Given the description of an element on the screen output the (x, y) to click on. 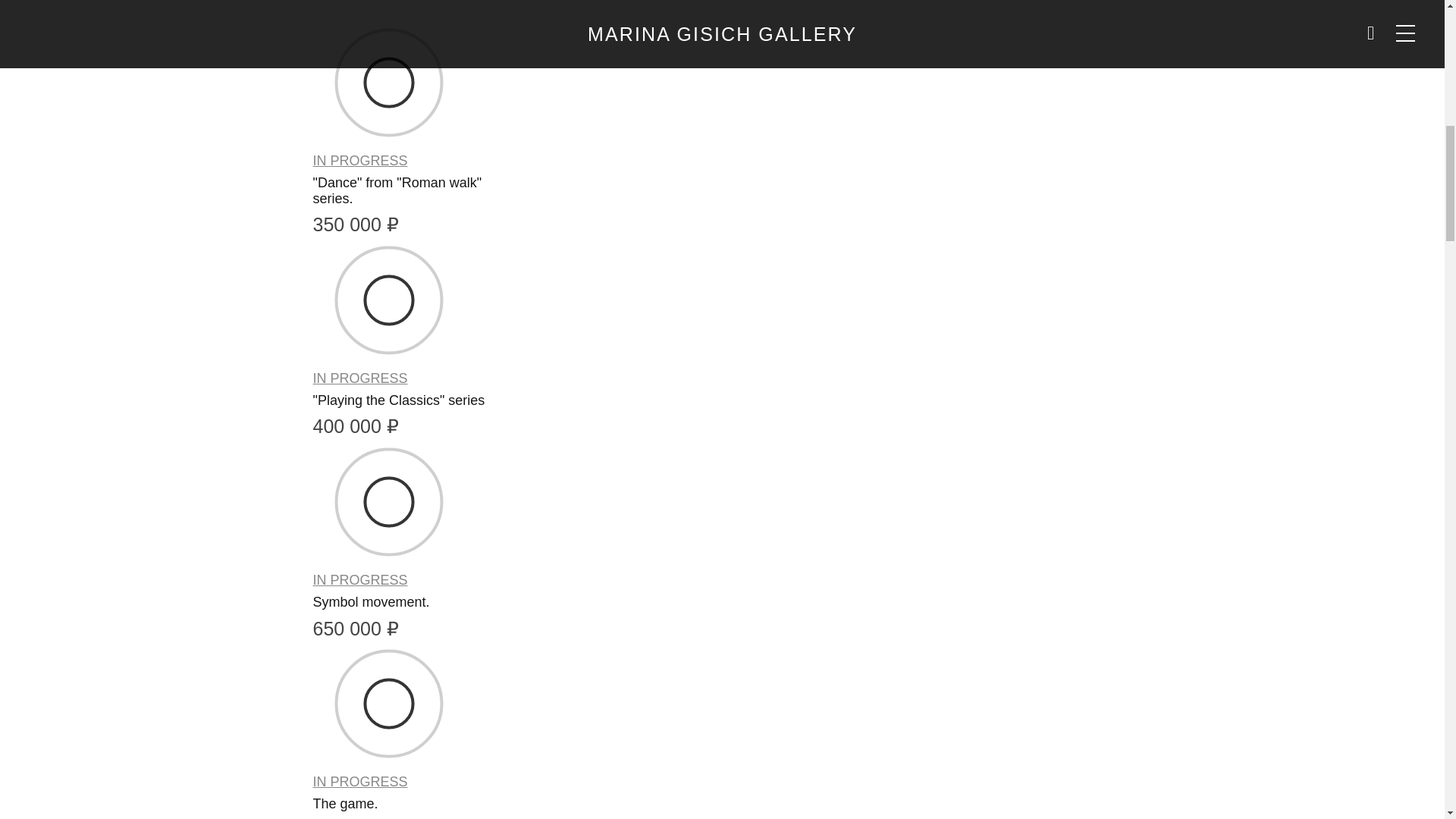
IN PROGRESS (360, 160)
IN PROGRESS (360, 580)
IN PROGRESS (360, 781)
IN PROGRESS (360, 378)
